Given the description of an element on the screen output the (x, y) to click on. 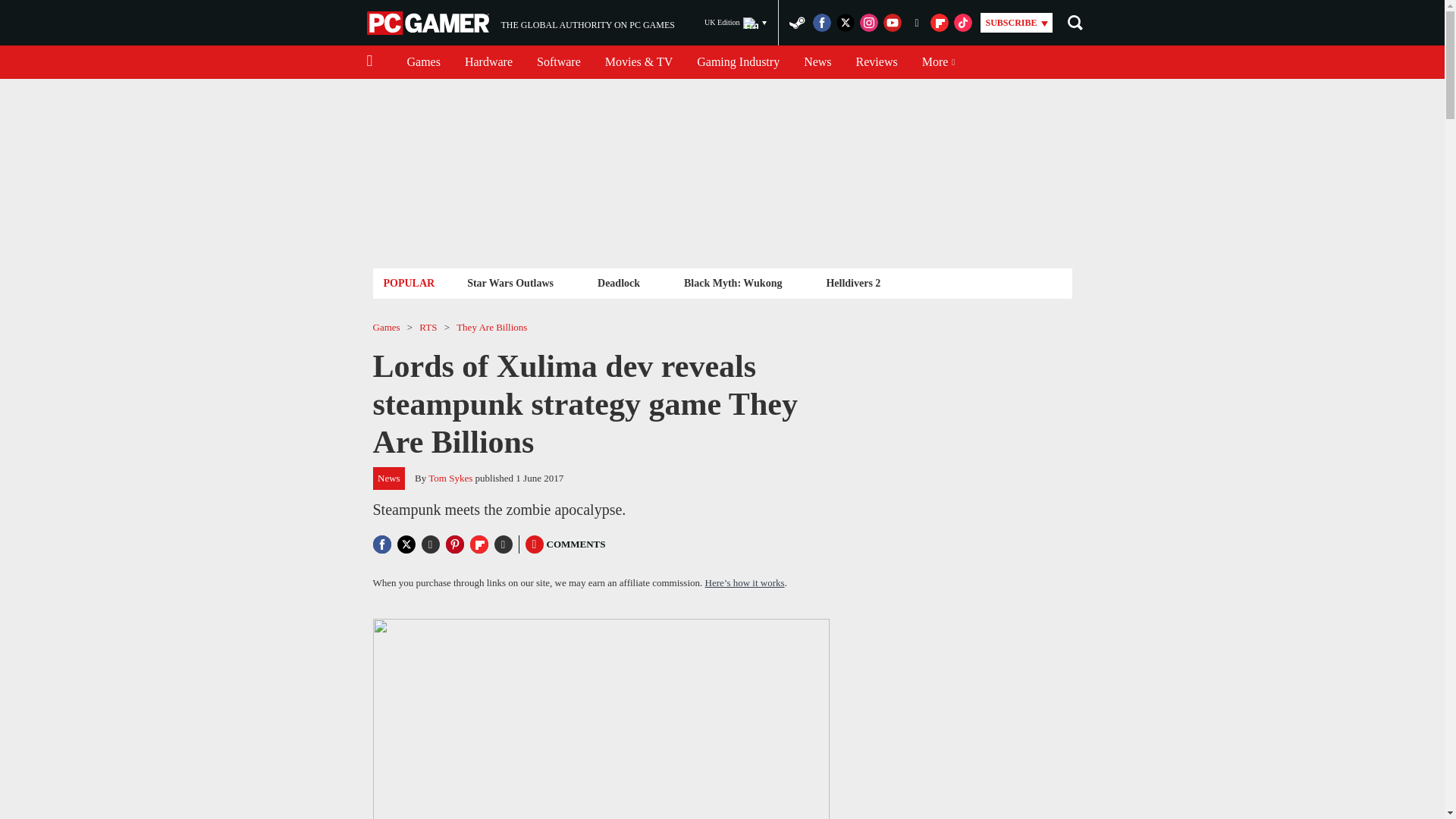
Software (558, 61)
Hardware (488, 61)
Games (422, 61)
PC Gamer (429, 22)
Star Wars Outlaws (510, 282)
Reviews (877, 61)
Gaming Industry (520, 22)
News (738, 61)
Deadlock (817, 61)
